Given the description of an element on the screen output the (x, y) to click on. 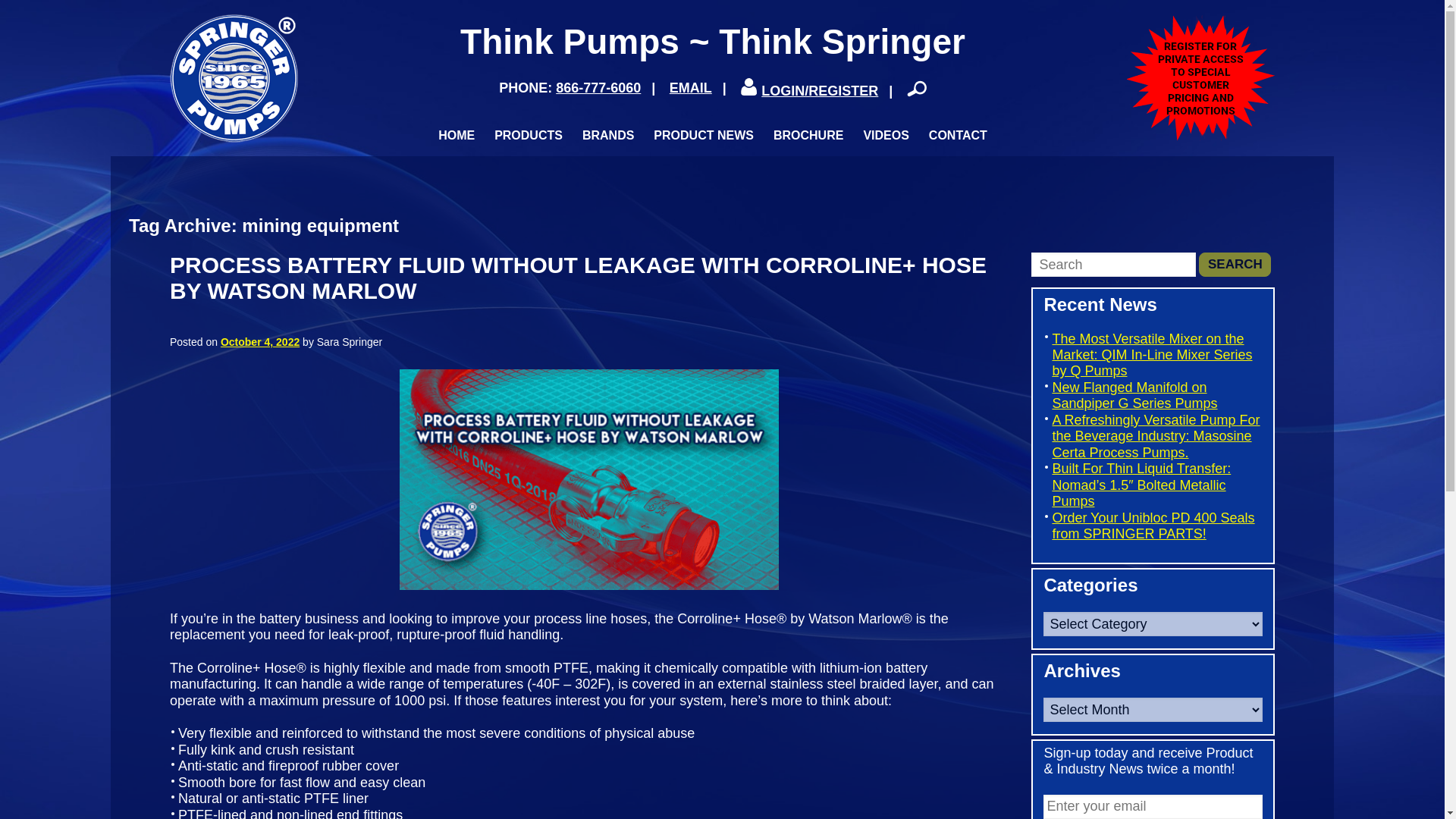
866-777-6060 (598, 87)
EMAIL (690, 87)
Search (1234, 264)
Springer Pumps, LLC. (234, 77)
PRODUCTS (528, 134)
BRANDS (608, 134)
HOME (456, 134)
